Given the description of an element on the screen output the (x, y) to click on. 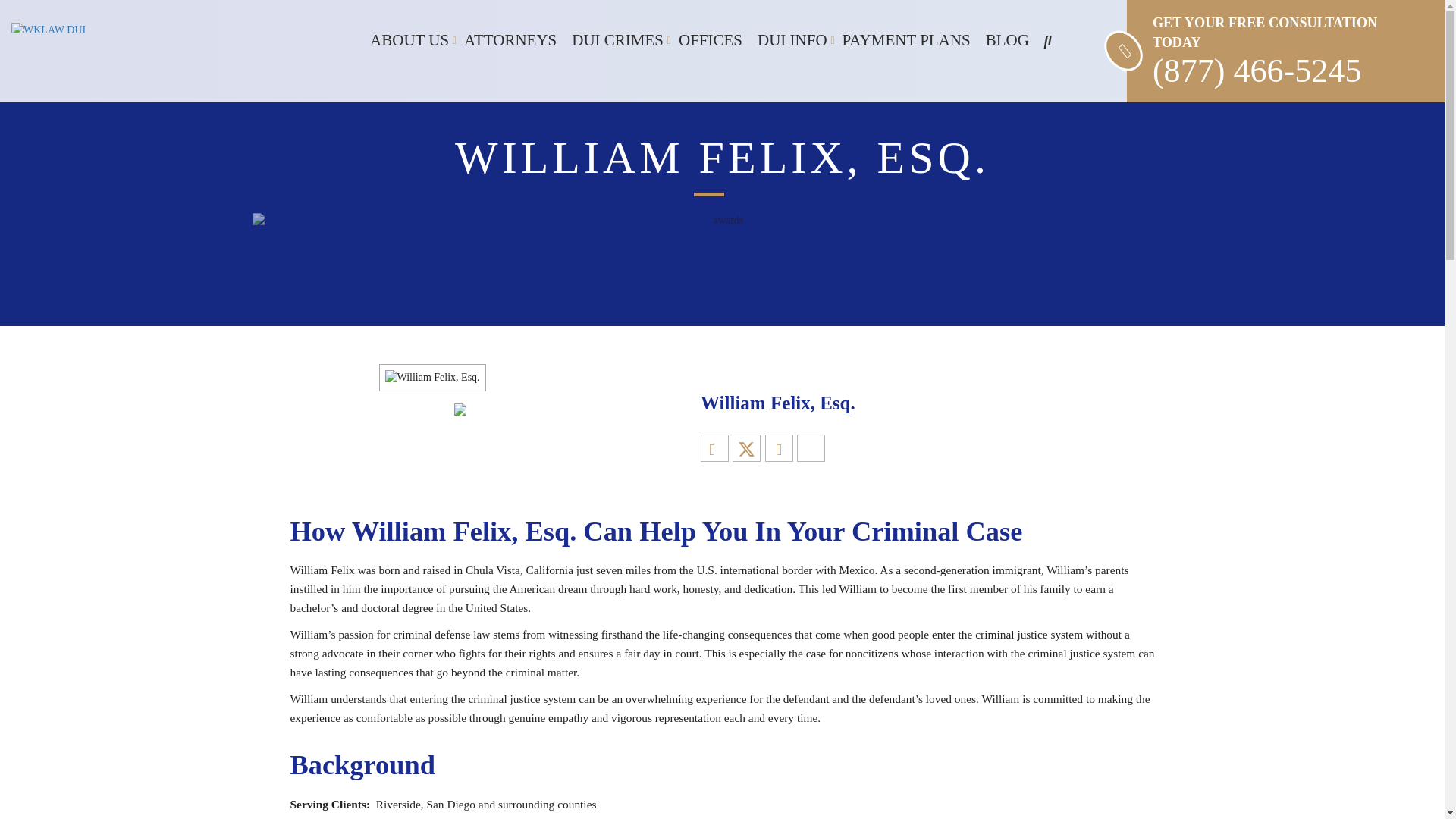
DUI INFO (791, 40)
ABOUT US (409, 40)
OFFICES (710, 40)
ATTORNEYS (510, 40)
PAYMENT PLANS (906, 40)
DUI CRIMES (617, 40)
